Given the description of an element on the screen output the (x, y) to click on. 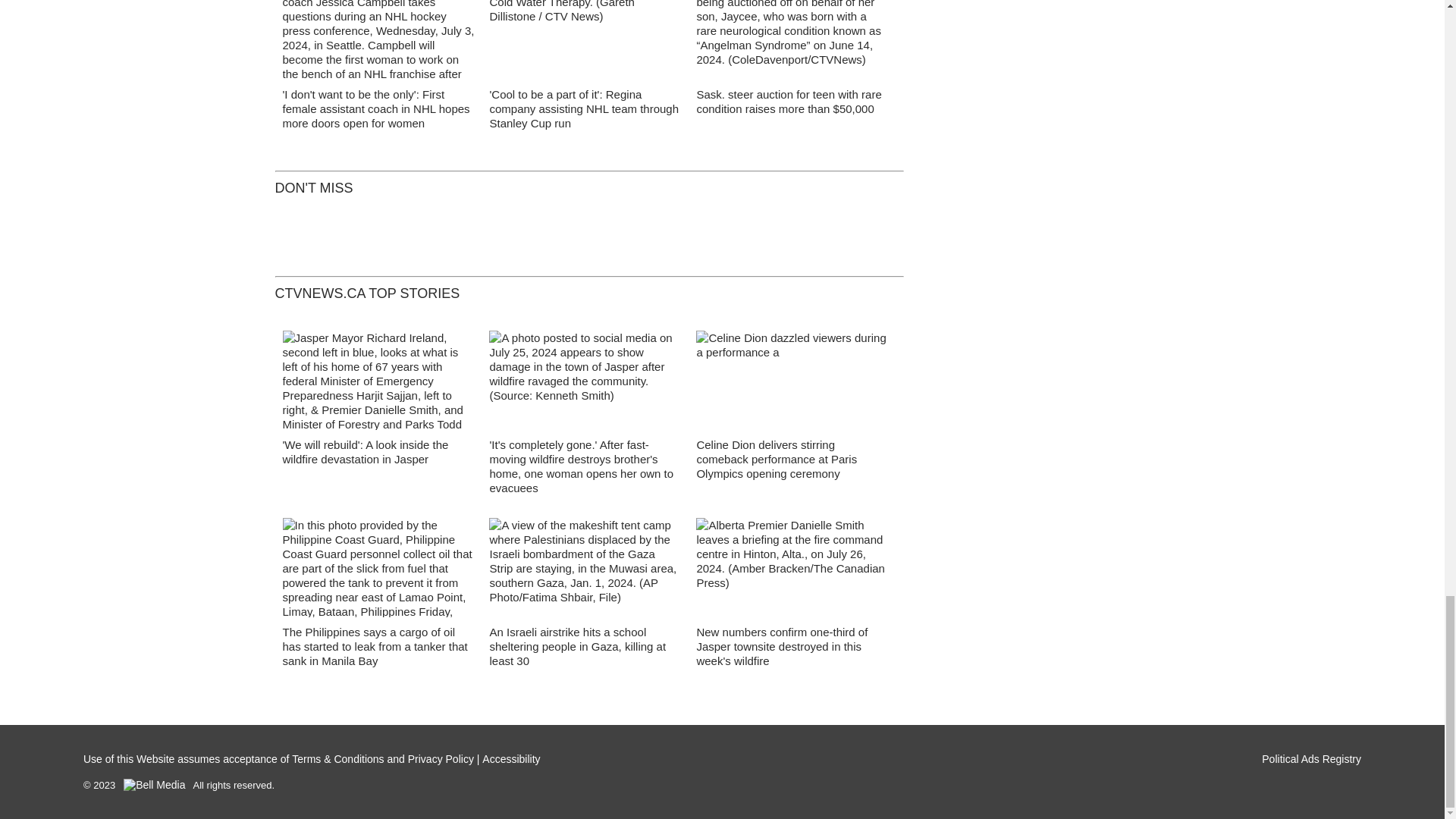
Kryo Cold Water Therapy (585, 43)
Jessica Campbell (378, 43)
